Given the description of an element on the screen output the (x, y) to click on. 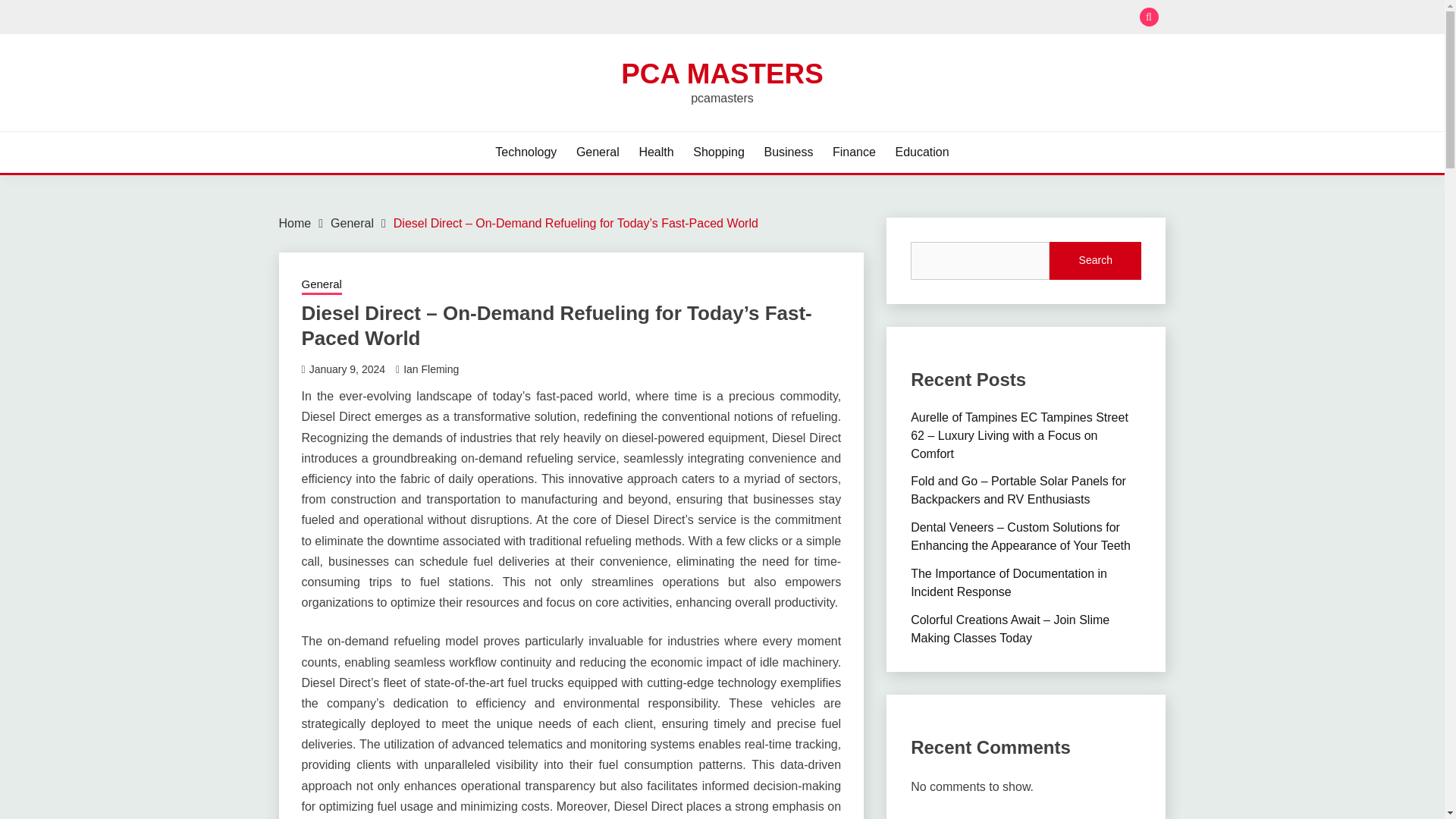
Health (655, 152)
Education (922, 152)
PCA MASTERS (721, 73)
Ian Fleming (430, 369)
Home (295, 223)
The Importance of Documentation in Incident Response (1008, 582)
Search (1095, 260)
General (321, 285)
Technology (525, 152)
Business (787, 152)
